Given the description of an element on the screen output the (x, y) to click on. 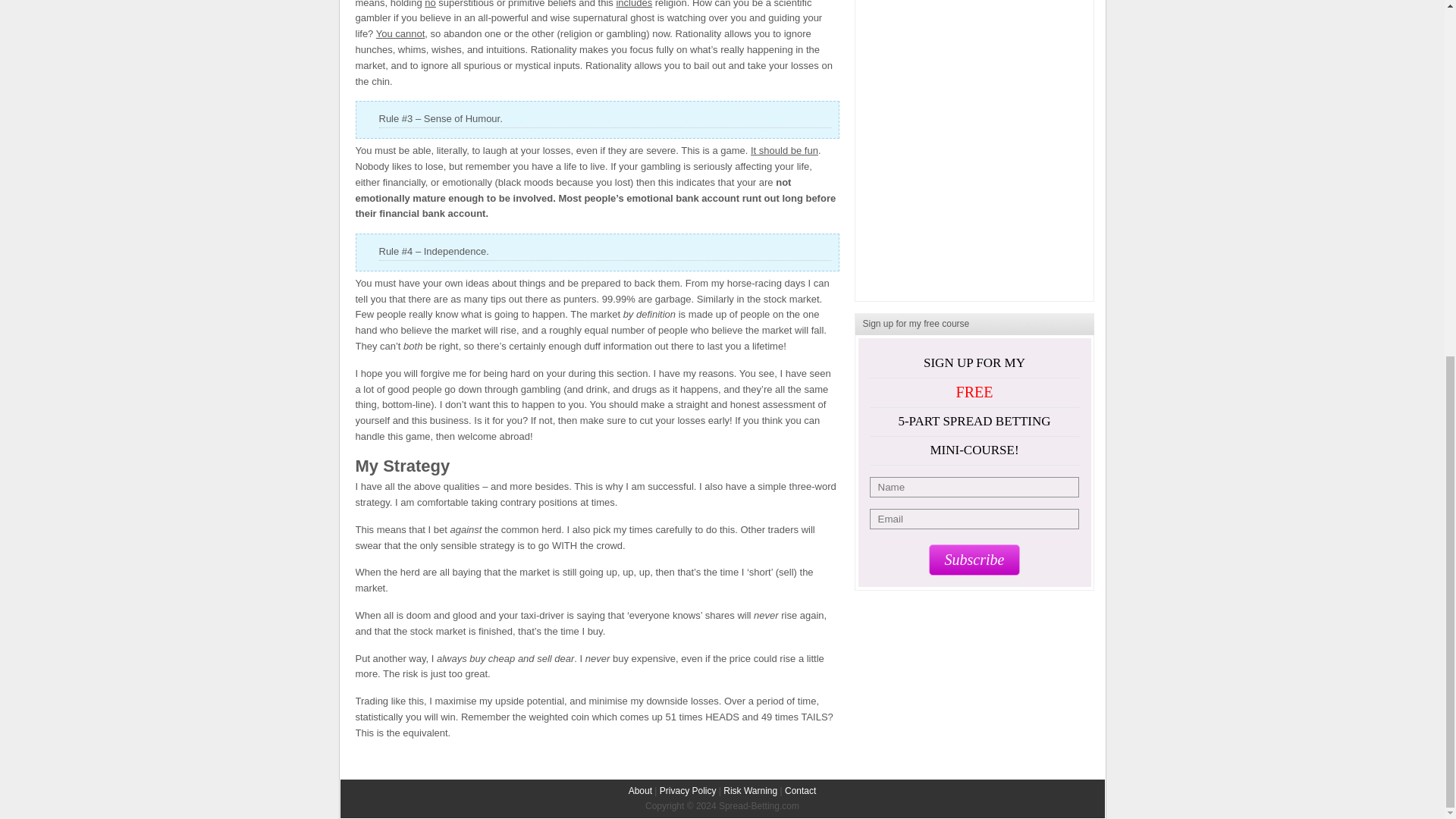
Risk Warning (750, 790)
About (640, 790)
Subscribe (974, 559)
Contact (799, 790)
Privacy Policy (687, 790)
